Given the description of an element on the screen output the (x, y) to click on. 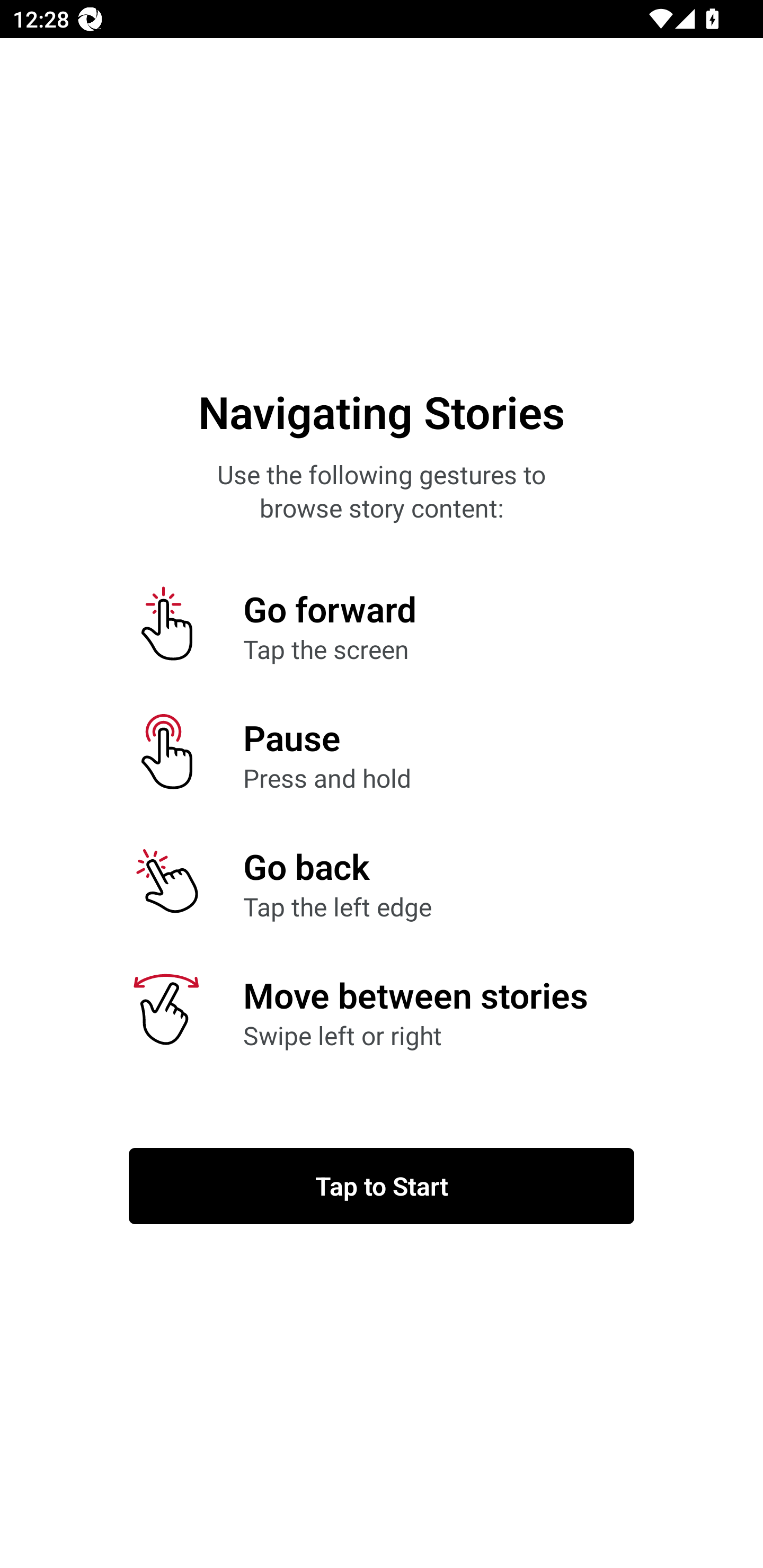
Tap to Start (381, 1185)
